Given the description of an element on the screen output the (x, y) to click on. 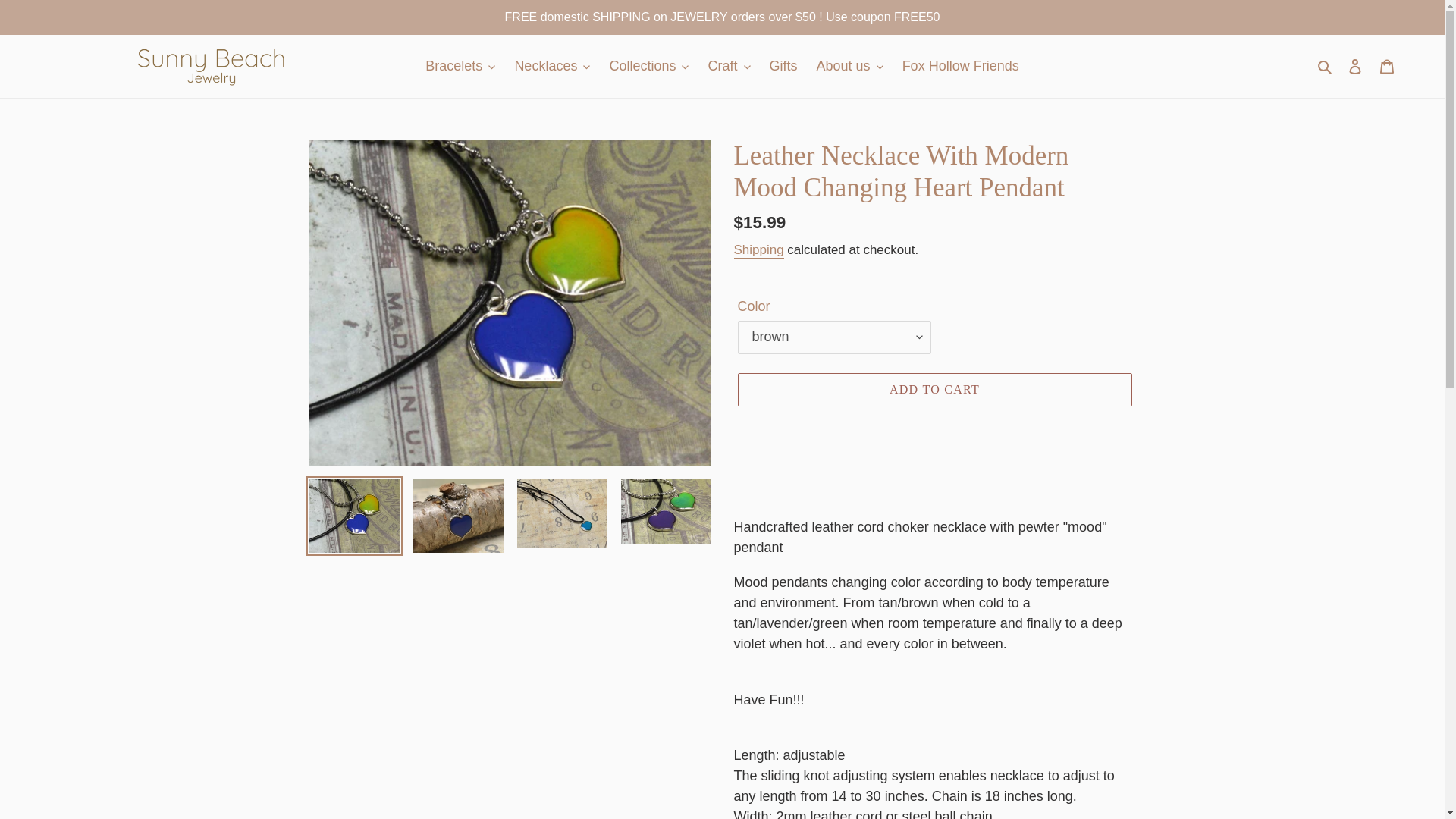
Necklaces (551, 66)
Collections (648, 66)
Bracelets (459, 66)
